Given the description of an element on the screen output the (x, y) to click on. 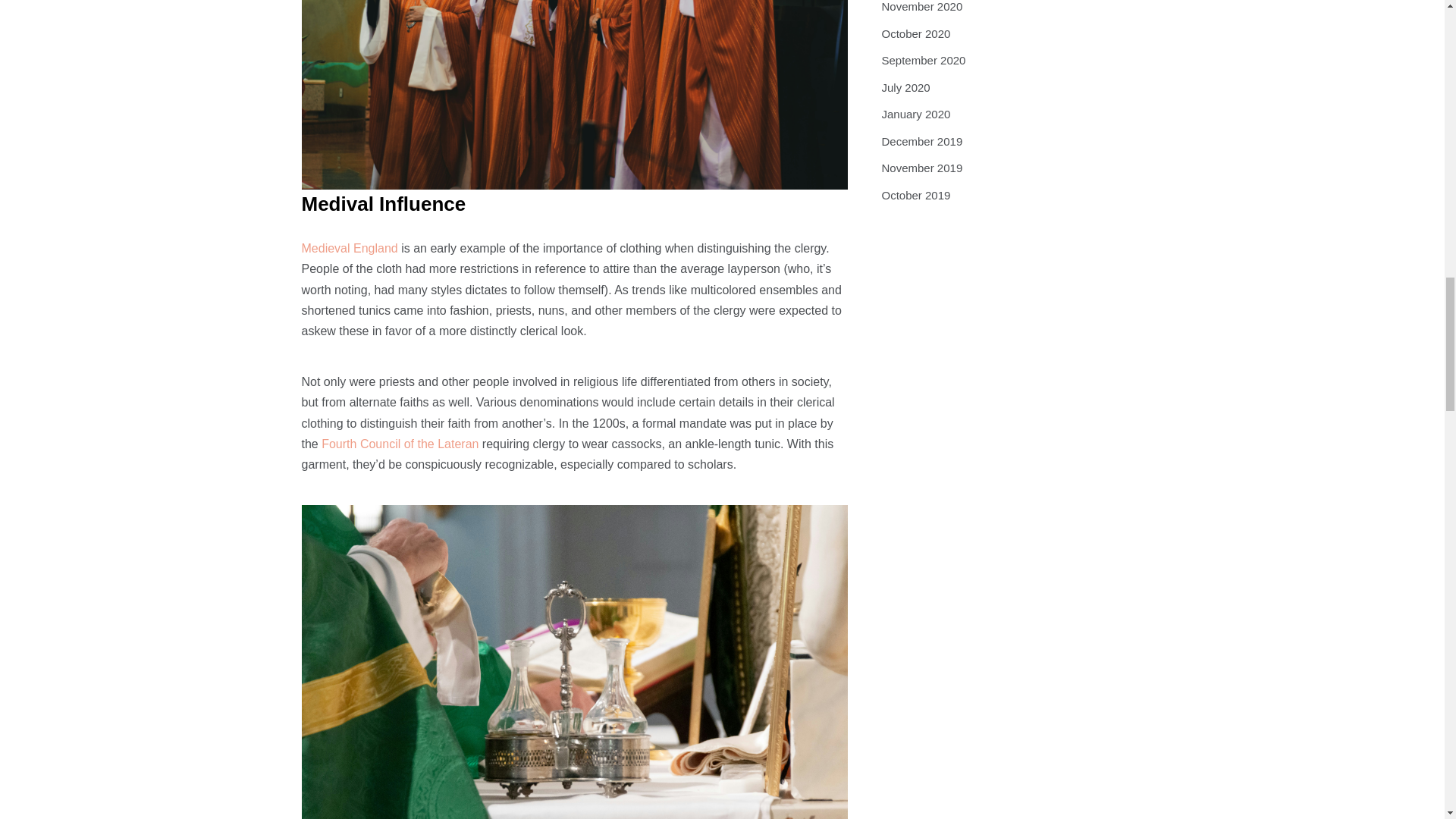
Medieval England (349, 247)
Fourth Council of the Lateran (400, 443)
